Given the description of an element on the screen output the (x, y) to click on. 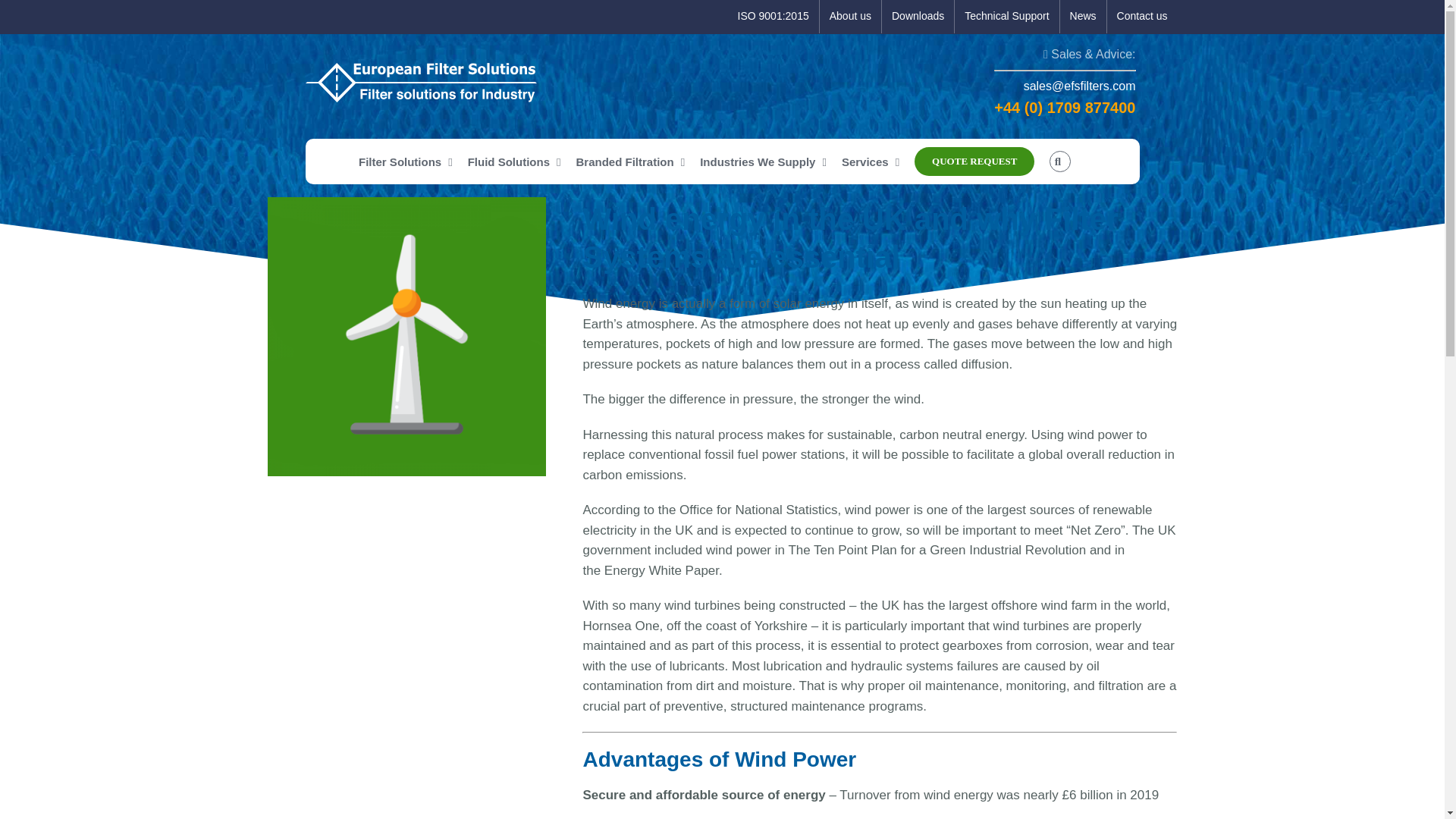
ISO 9001:2015 (773, 16)
Industries We Supply (763, 161)
Fluid Solutions (513, 161)
Technical Support (1006, 16)
Filter Solutions (405, 161)
Branded Filtration (630, 161)
Contact us (1141, 16)
Downloads (917, 16)
About us (849, 16)
News (1082, 16)
